Given the description of an element on the screen output the (x, y) to click on. 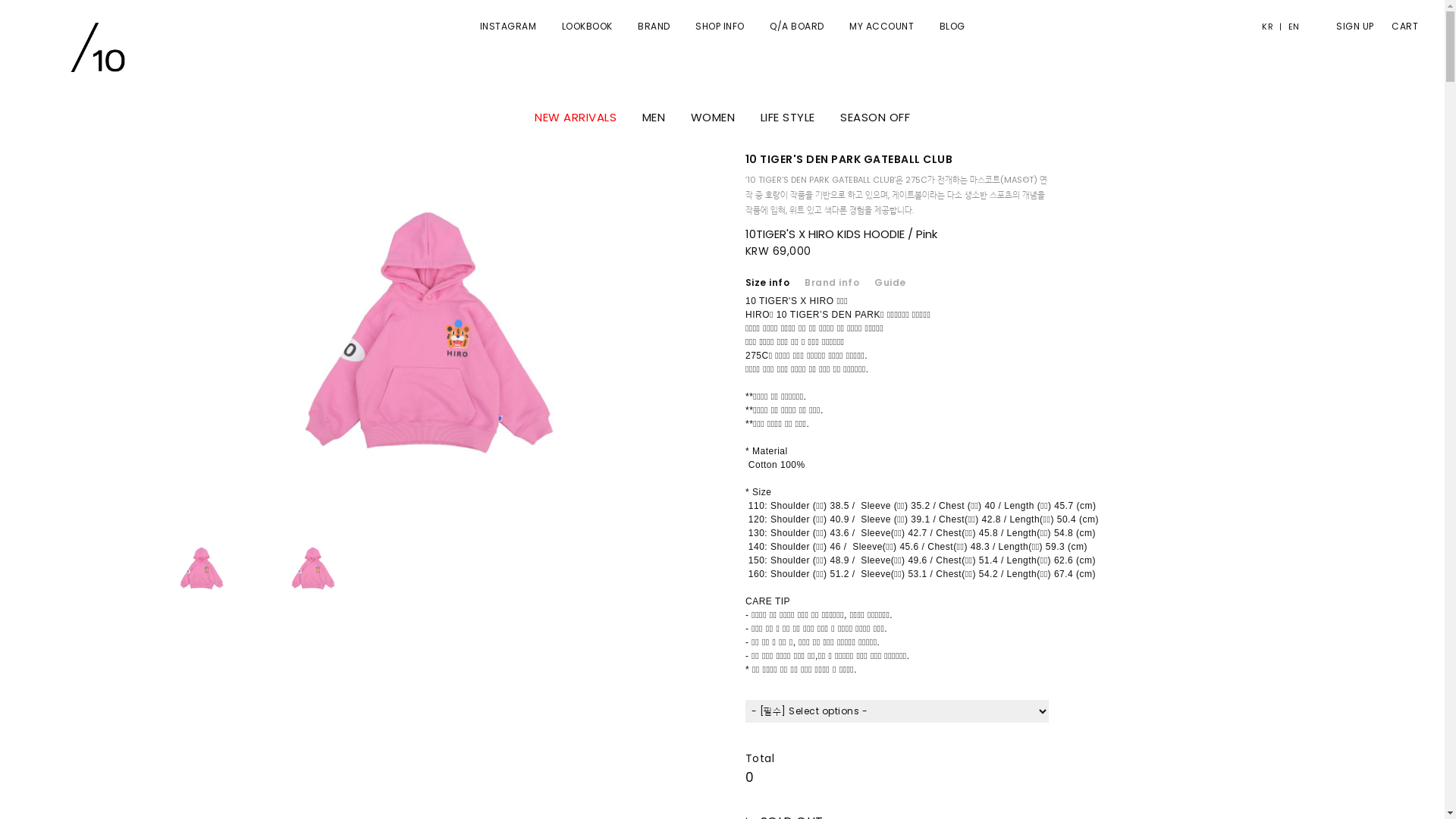
SIGN UP Element type: text (1347, 26)
EN Element type: text (1290, 26)
NEW ARRIVALS Element type: text (575, 117)
LOOKBOOK Element type: text (586, 25)
INSTAGRAM Element type: text (507, 25)
SEASON OFF Element type: text (875, 117)
Q/A BOARD Element type: text (796, 25)
BRAND Element type: text (653, 25)
MEN Element type: text (653, 117)
SHOP INFO Element type: text (719, 25)
MY ACCOUNT Element type: text (881, 25)
WOMEN Element type: text (712, 117)
KR Element type: text (1270, 26)
10 TIGER'S DEN PARK GATEBALL CLUB Element type: text (849, 158)
BLOG Element type: text (951, 25)
CART Element type: text (1397, 26)
LIFE STYLE Element type: text (786, 117)
